Given the description of an element on the screen output the (x, y) to click on. 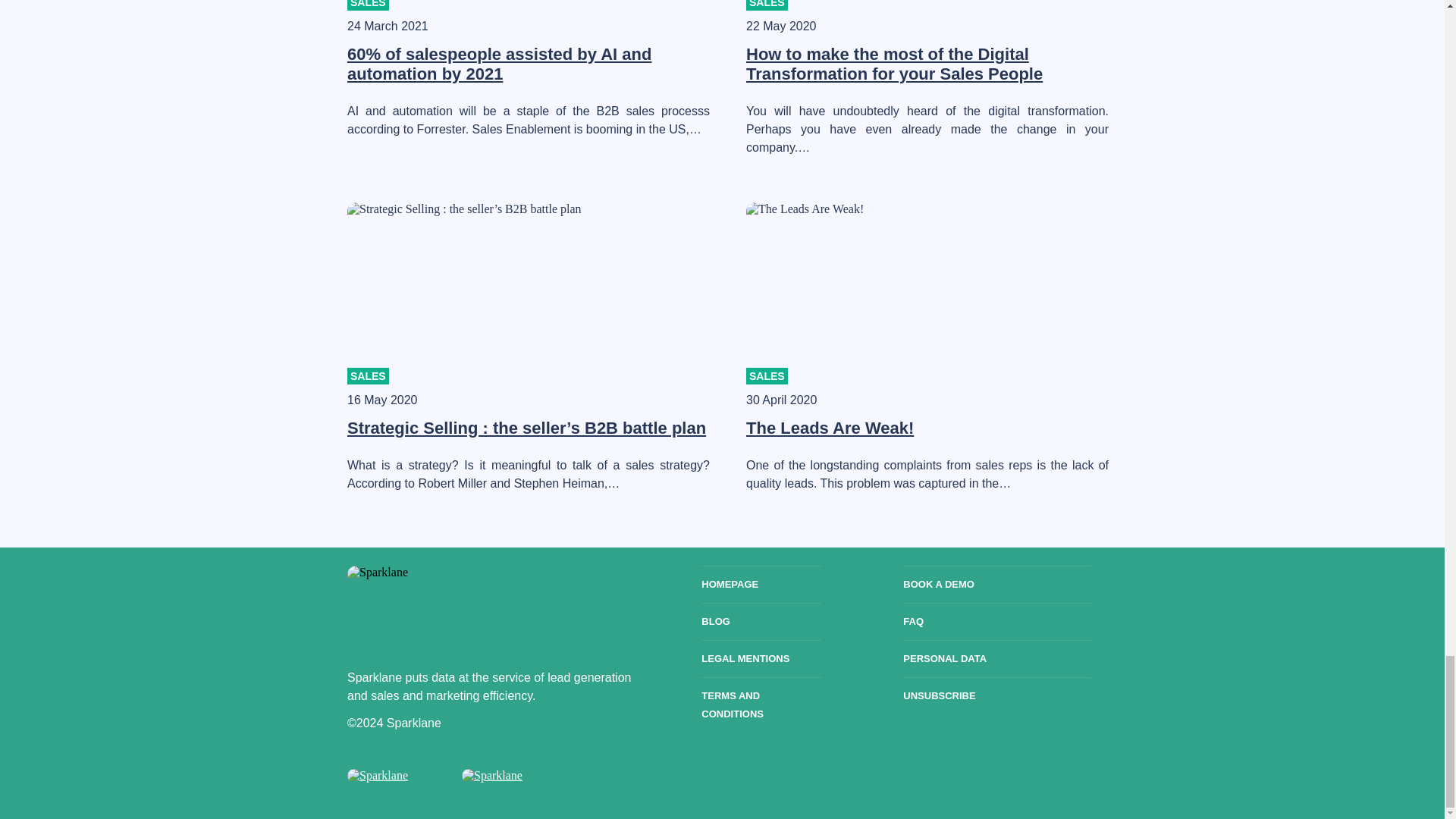
Read the article (893, 64)
Read the article (526, 427)
Read the article (829, 427)
Read the article (498, 64)
